Given the description of an element on the screen output the (x, y) to click on. 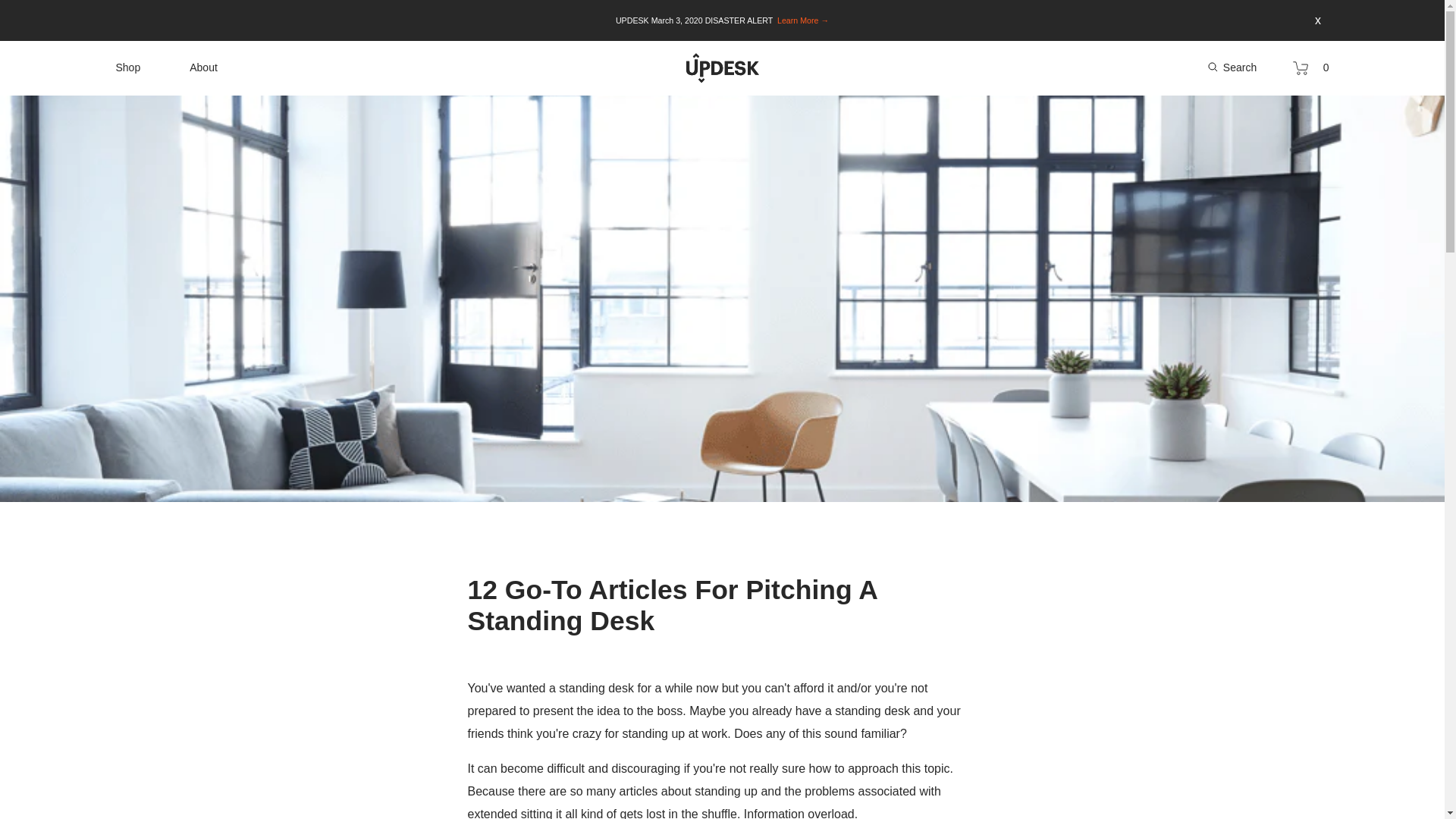
About (202, 70)
0 (1310, 69)
Shop (127, 67)
